Given the description of an element on the screen output the (x, y) to click on. 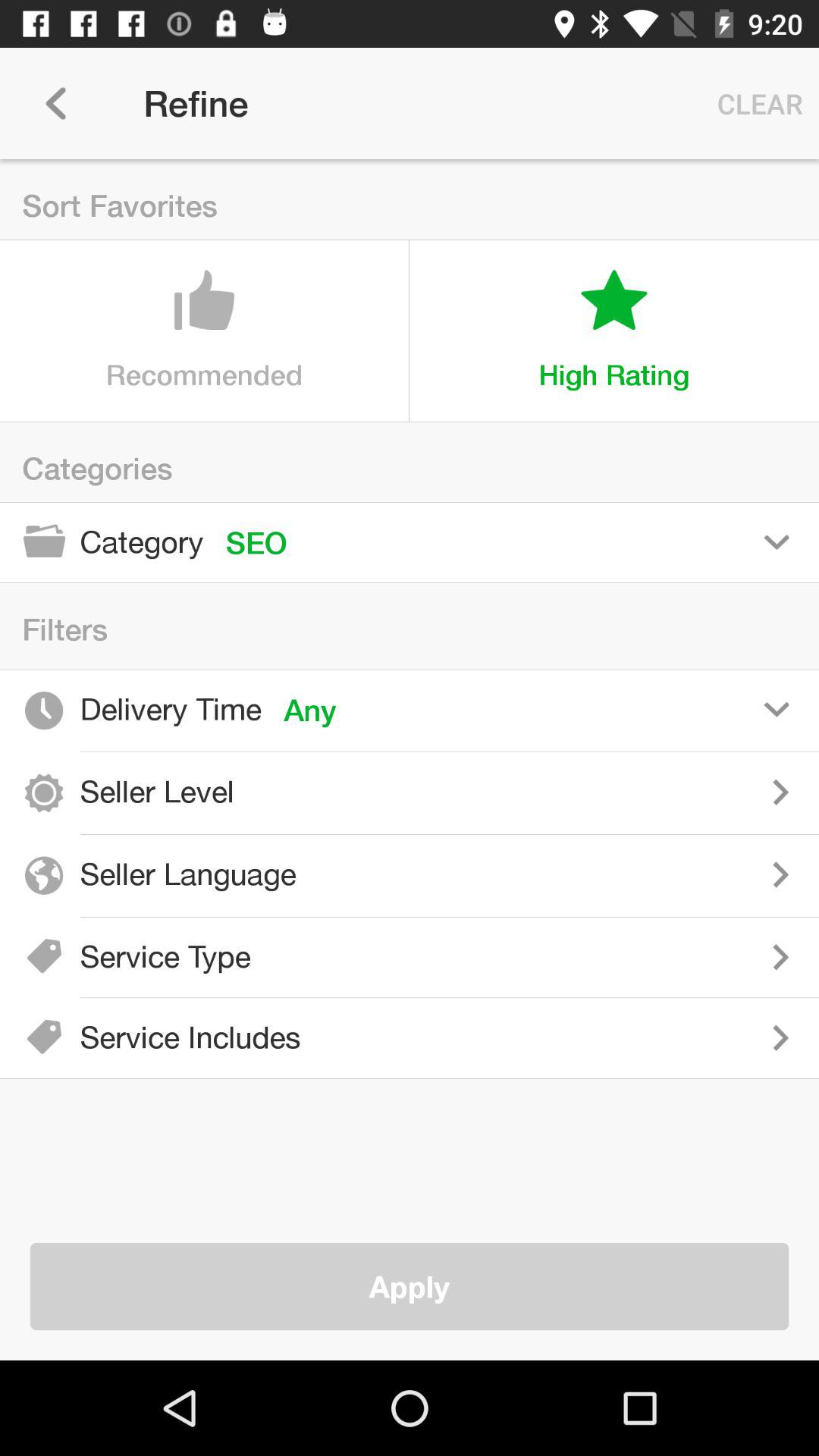
tap apply item (409, 1286)
